Given the description of an element on the screen output the (x, y) to click on. 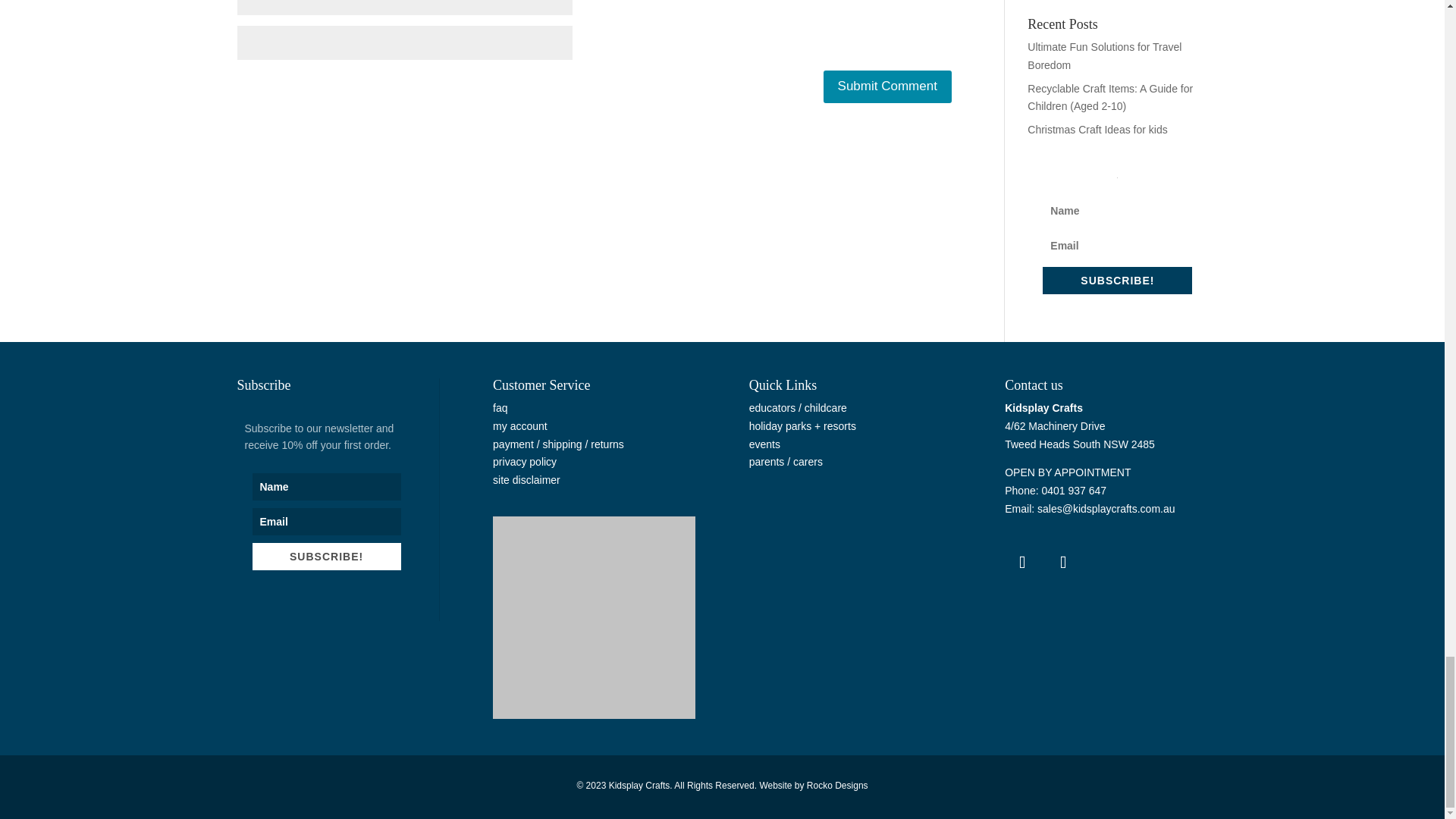
Follow on Facebook (1021, 562)
Powered by Stripe - blurple (594, 617)
Submit Comment (888, 86)
Follow on Instagram (1062, 562)
